Given the description of an element on the screen output the (x, y) to click on. 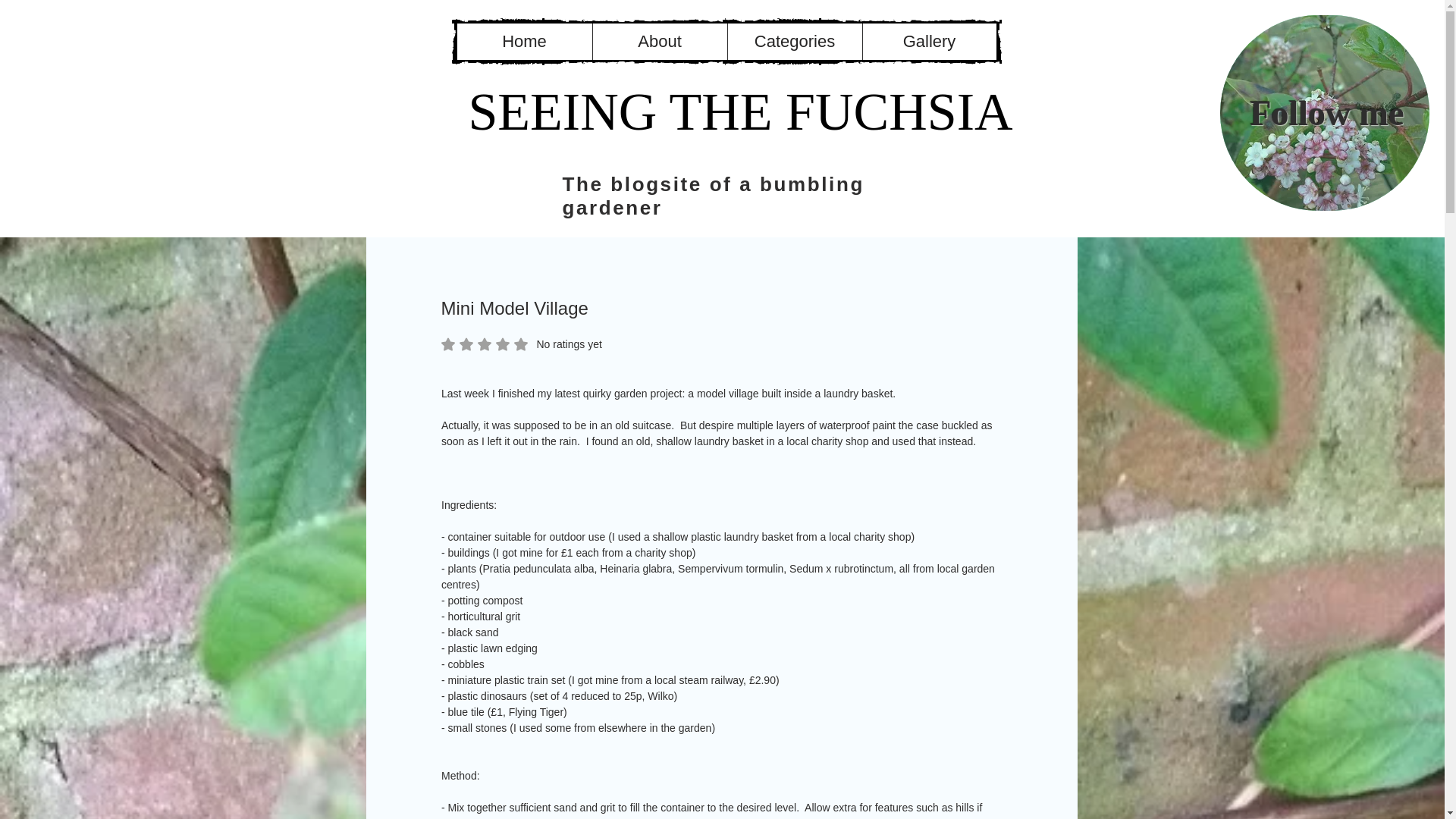
Gallery (521, 344)
About (928, 41)
Home (658, 41)
